Given the description of an element on the screen output the (x, y) to click on. 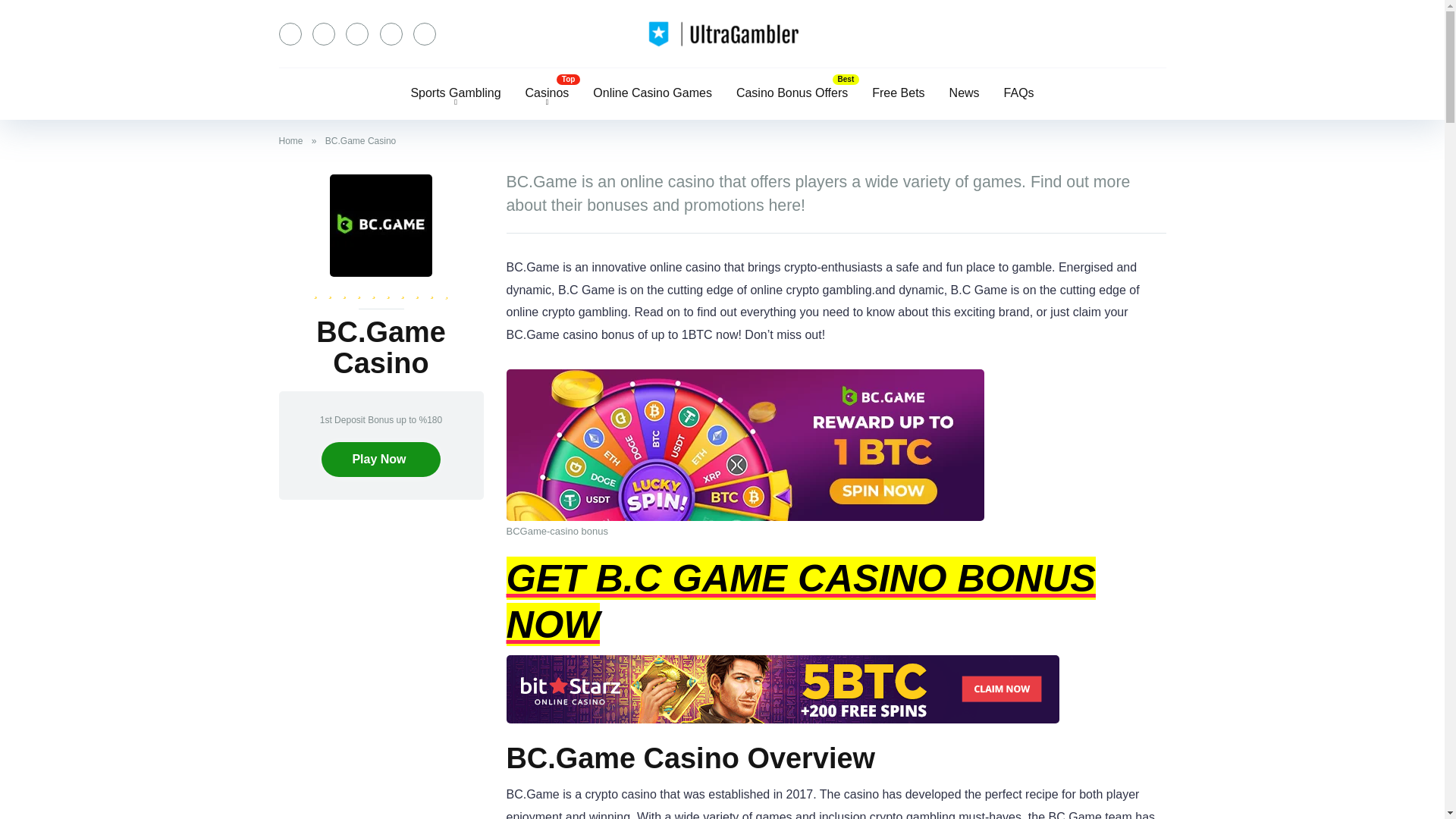
Facebook (290, 33)
YouTube (357, 33)
Play Now (380, 459)
Website (424, 33)
Twitter (323, 33)
Casinos (546, 93)
Instagram (391, 33)
Sports Gambling (454, 93)
UltraGambler (722, 33)
